Given the description of an element on the screen output the (x, y) to click on. 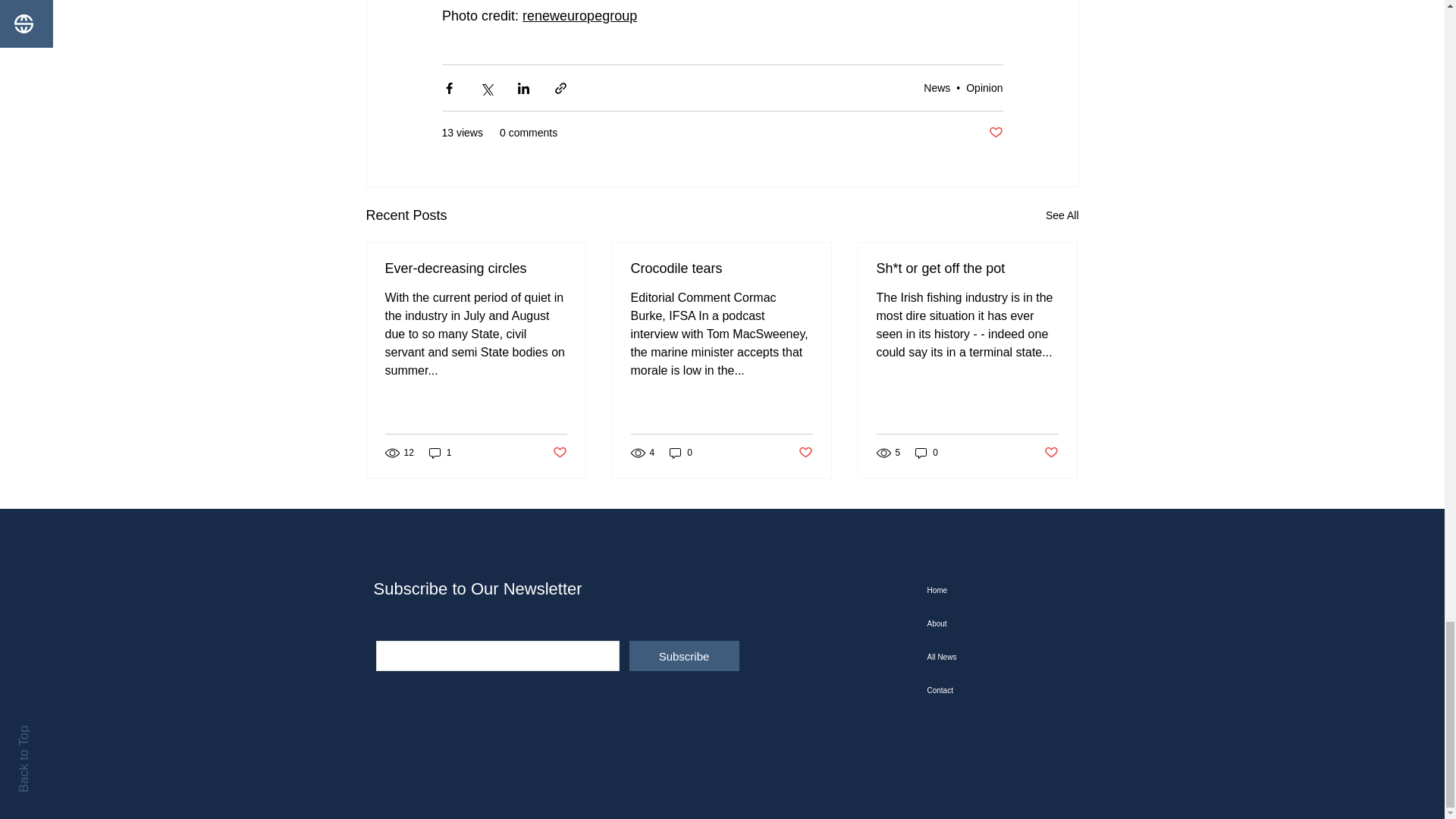
1 (440, 452)
Post not marked as liked (558, 452)
Post not marked as liked (995, 132)
Post not marked as liked (804, 452)
0 (926, 452)
Opinion (984, 87)
Contact (1002, 690)
Crocodile tears (721, 268)
All News (1002, 657)
Subscribe (683, 655)
